Given the description of an element on the screen output the (x, y) to click on. 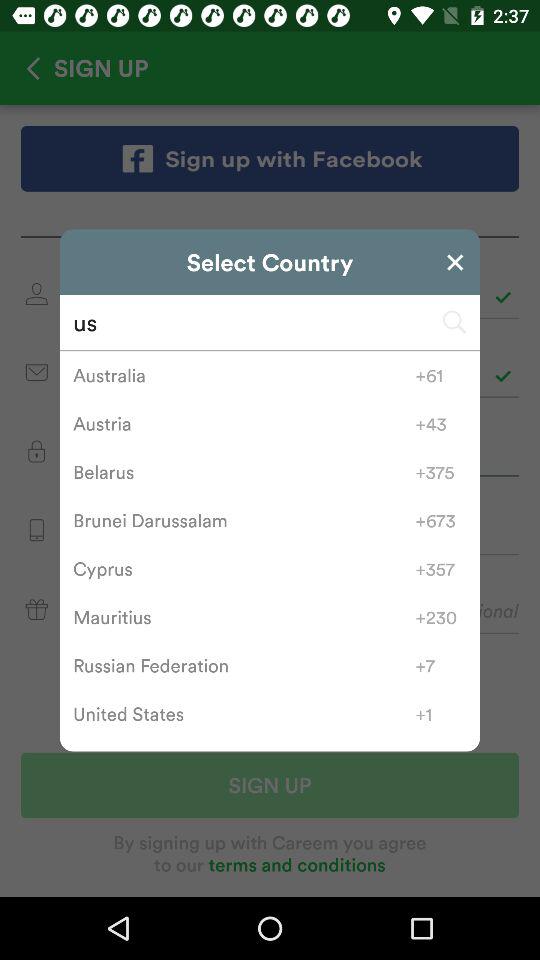
click the icon next to +357 item (244, 569)
